Given the description of an element on the screen output the (x, y) to click on. 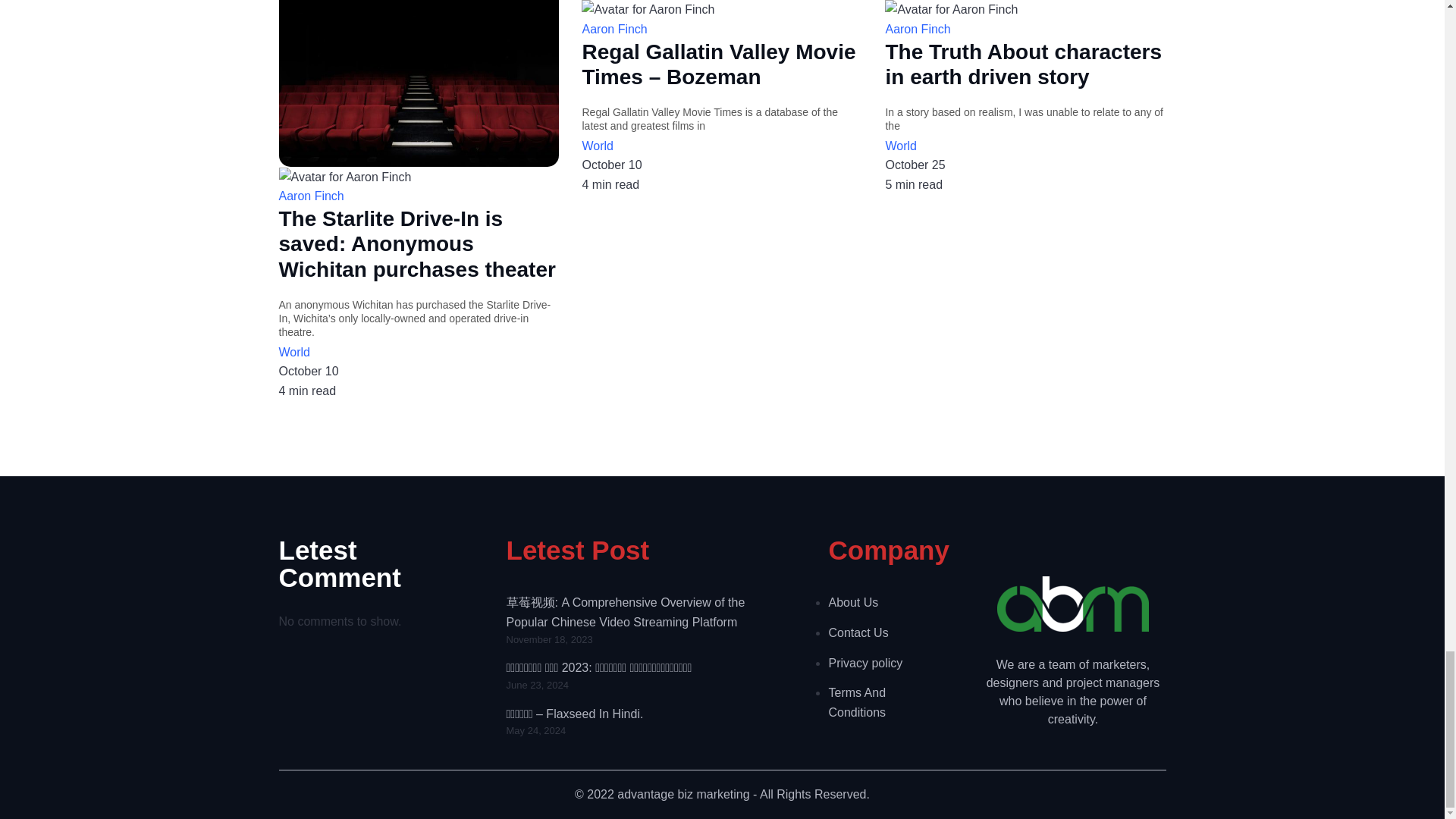
World (720, 146)
Aaron Finch (419, 196)
Privacy policy (882, 663)
World (1025, 146)
Aaron Finch (720, 29)
Contact Us (882, 632)
Aaron Finch (1025, 29)
About Us (882, 602)
World (419, 352)
The Truth About characters in earth driven story (1025, 64)
